Given the description of an element on the screen output the (x, y) to click on. 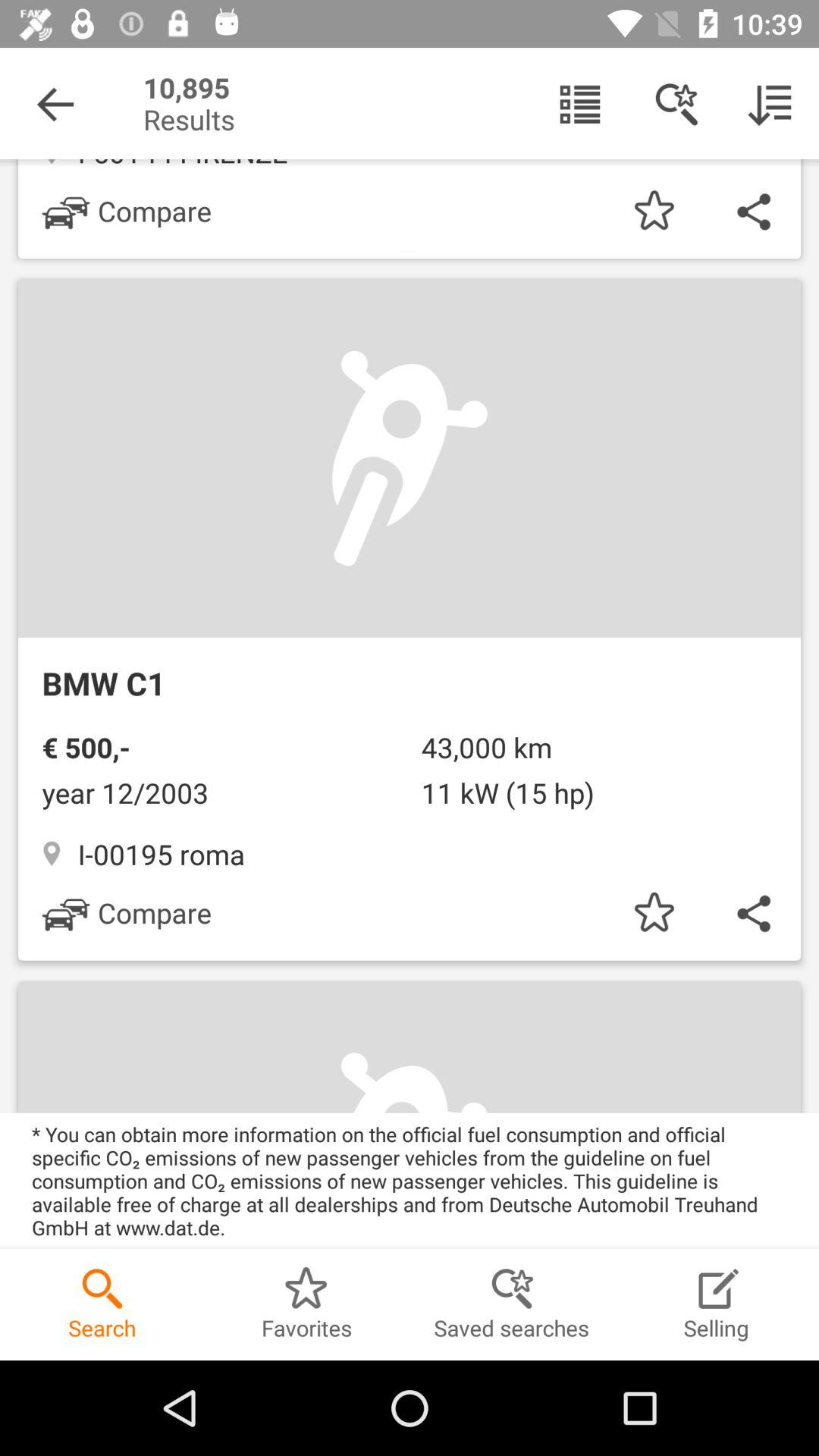
select the compare option which is below i00195 roma (126, 912)
select the option favorites at the bottom of the screen (306, 1304)
click on the share icon  below  bmw c1 to the right of compare (752, 912)
